Given the description of an element on the screen output the (x, y) to click on. 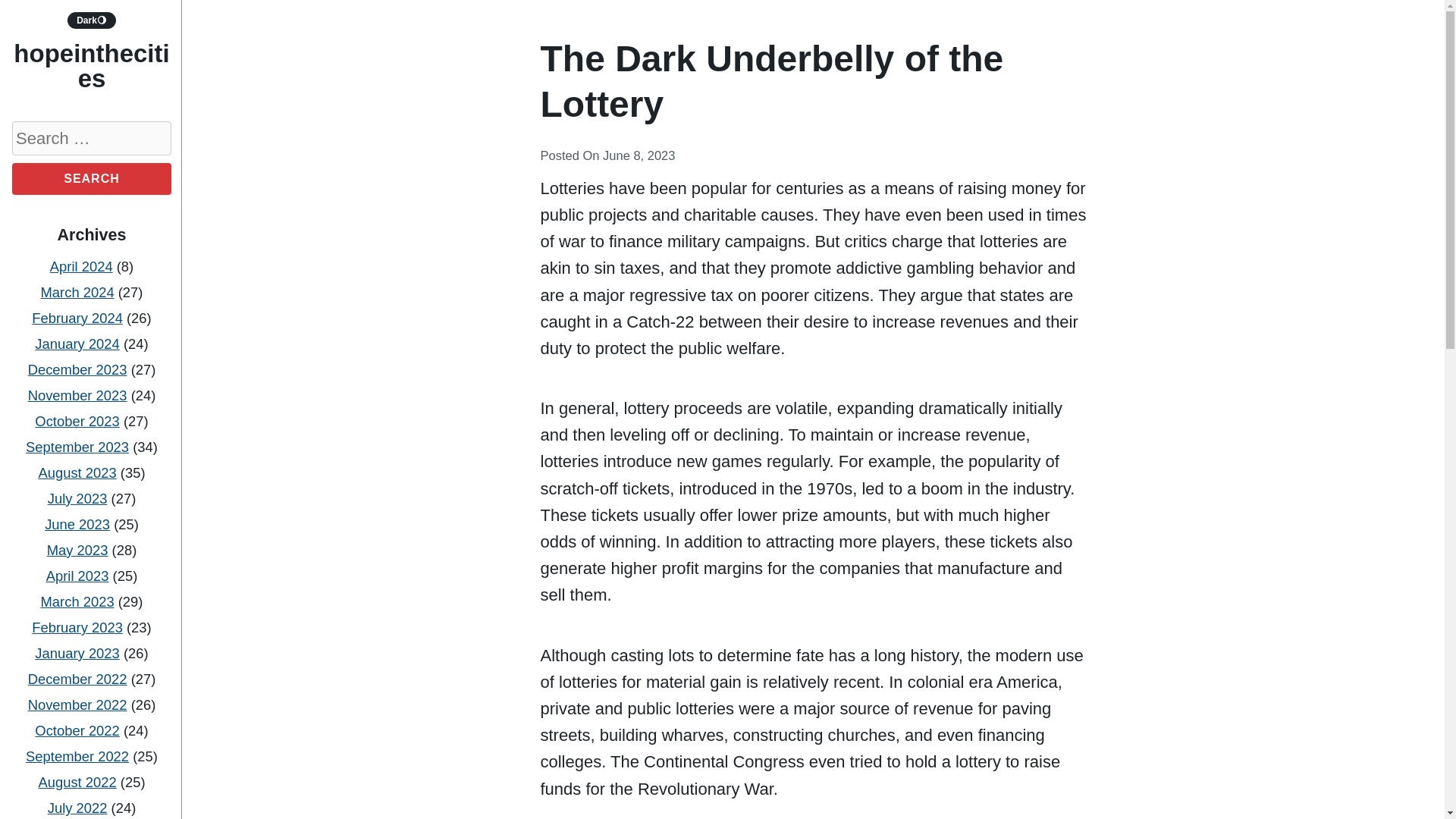
hopeinthecities (90, 65)
August 2022 (76, 781)
October 2022 (76, 730)
May 2023 (76, 549)
April 2024 (81, 266)
December 2023 (77, 369)
September 2022 (77, 756)
July 2023 (77, 498)
December 2022 (77, 678)
April 2023 (77, 575)
